Given the description of an element on the screen output the (x, y) to click on. 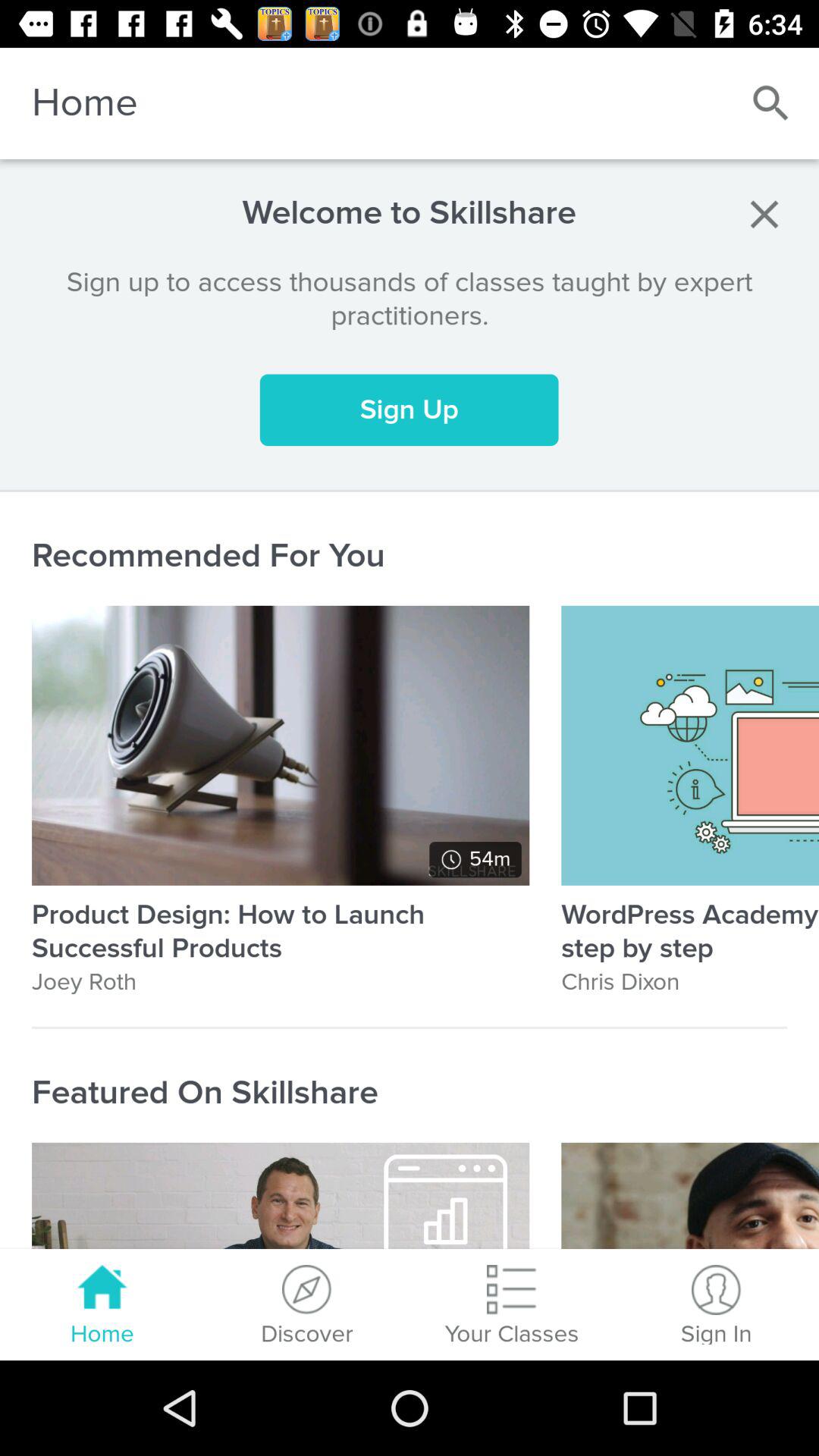
close window (764, 214)
